Given the description of an element on the screen output the (x, y) to click on. 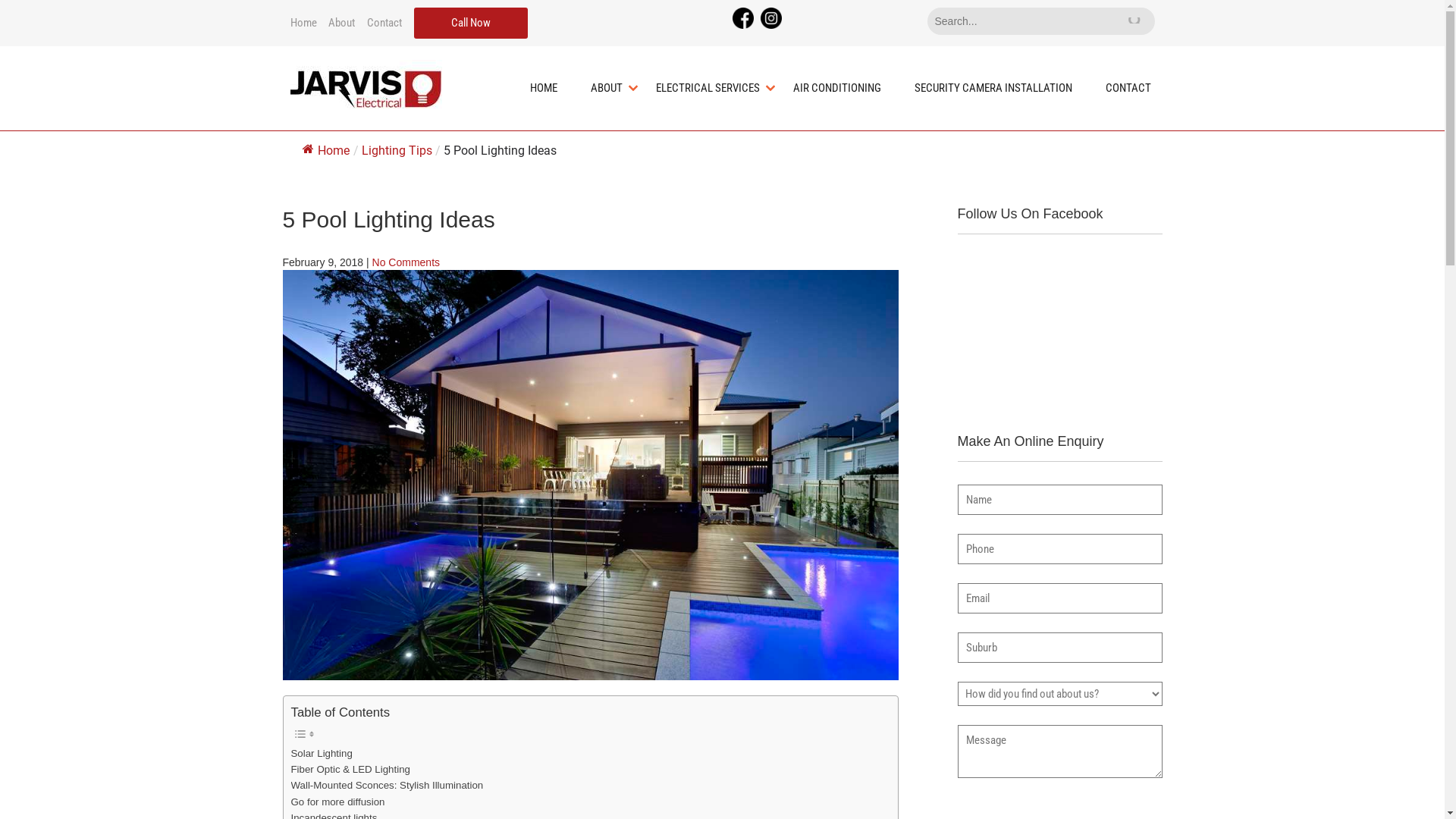
No Comments Element type: text (405, 262)
Search Element type: text (1134, 20)
CONTACT Element type: text (1128, 87)
About Element type: text (341, 22)
Lighting Tips Element type: text (395, 150)
ELECTRICAL SERVICES Element type: text (707, 87)
Home Element type: text (302, 22)
Wall-Mounted Sconces: Stylish Illumination Element type: text (387, 785)
SECURITY CAMERA INSTALLATION Element type: text (993, 87)
ABOUT Element type: text (606, 87)
Contact Element type: text (384, 22)
Solar Lighting Element type: text (321, 753)
Fiber Optic & LED Lighting Element type: text (350, 769)
HOME Element type: text (543, 87)
Call Now Element type: text (470, 22)
Home Element type: text (324, 150)
AIR CONDITIONING Element type: text (837, 87)
Go for more diffusion Element type: text (338, 801)
